Given the description of an element on the screen output the (x, y) to click on. 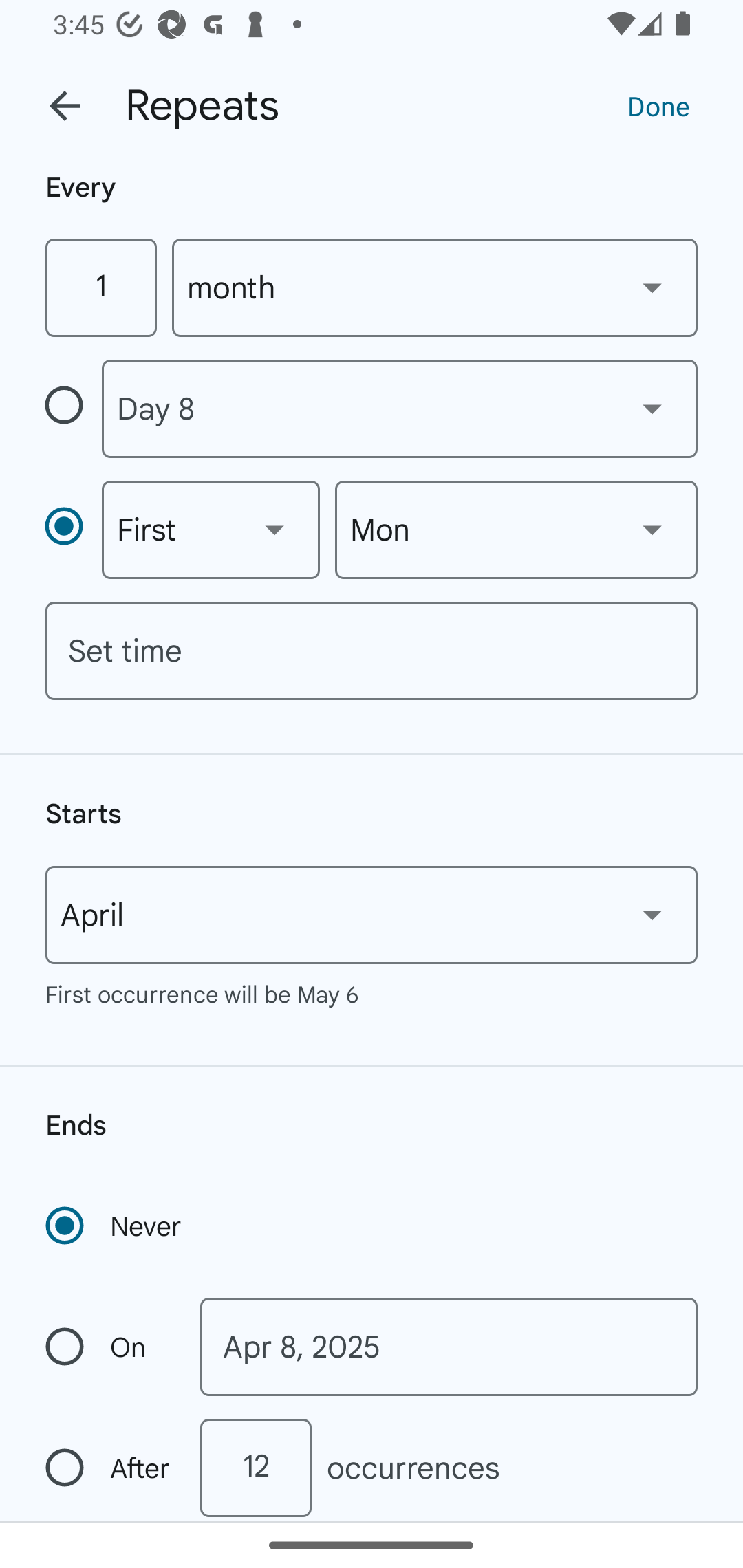
Back (64, 105)
Done (658, 105)
1 (100, 287)
month (434, 287)
Show dropdown menu (652, 286)
Day 8 (399, 408)
Show dropdown menu (652, 408)
Repeat monthly on a specific day of the month (73, 408)
First (210, 529)
Mon (516, 529)
Show dropdown menu (274, 529)
Show dropdown menu (652, 529)
Repeat monthly on a specific weekday (73, 529)
Set time (371, 650)
April (371, 914)
Show dropdown menu (652, 913)
Never Recurrence never ends (115, 1225)
Apr 8, 2025 (448, 1346)
On Recurrence ends on a specific date (109, 1346)
12 (255, 1468)
